Given the description of an element on the screen output the (x, y) to click on. 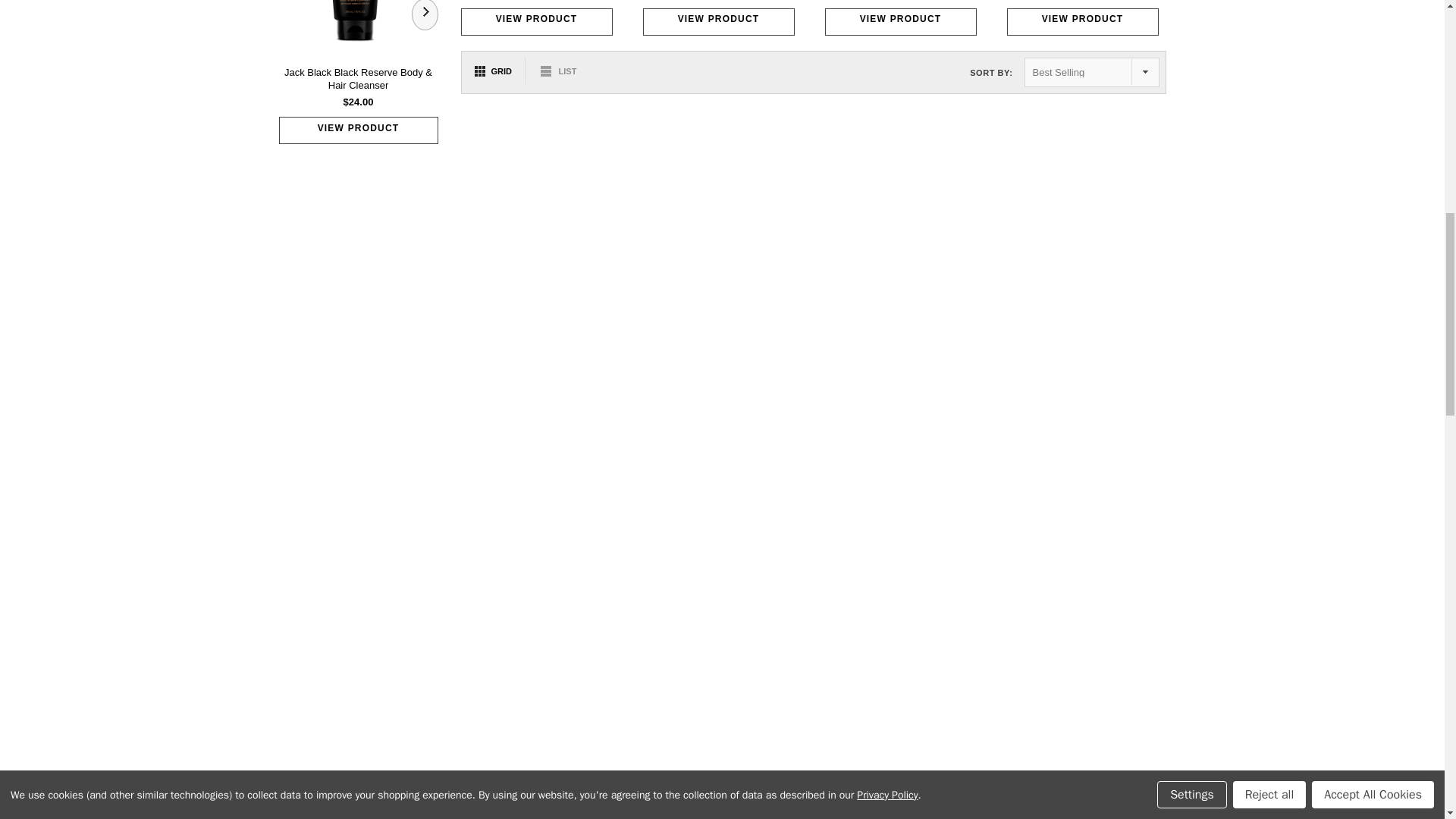
La Roche Posay Mela B3 Gel Cleanser (1192, 21)
List View (552, 70)
La Roche Posay Toleriane Double Repair Face Moisturizer (525, 21)
La Roche Posay Toleriane Double Repair Matte Moisturizer (858, 21)
EltaMD UV Clear Broad-Spectrum SPF 46 (1025, 21)
La Roche Posay Mela B3 Dark Spot Serum (691, 21)
Grid View (495, 70)
